Given the description of an element on the screen output the (x, y) to click on. 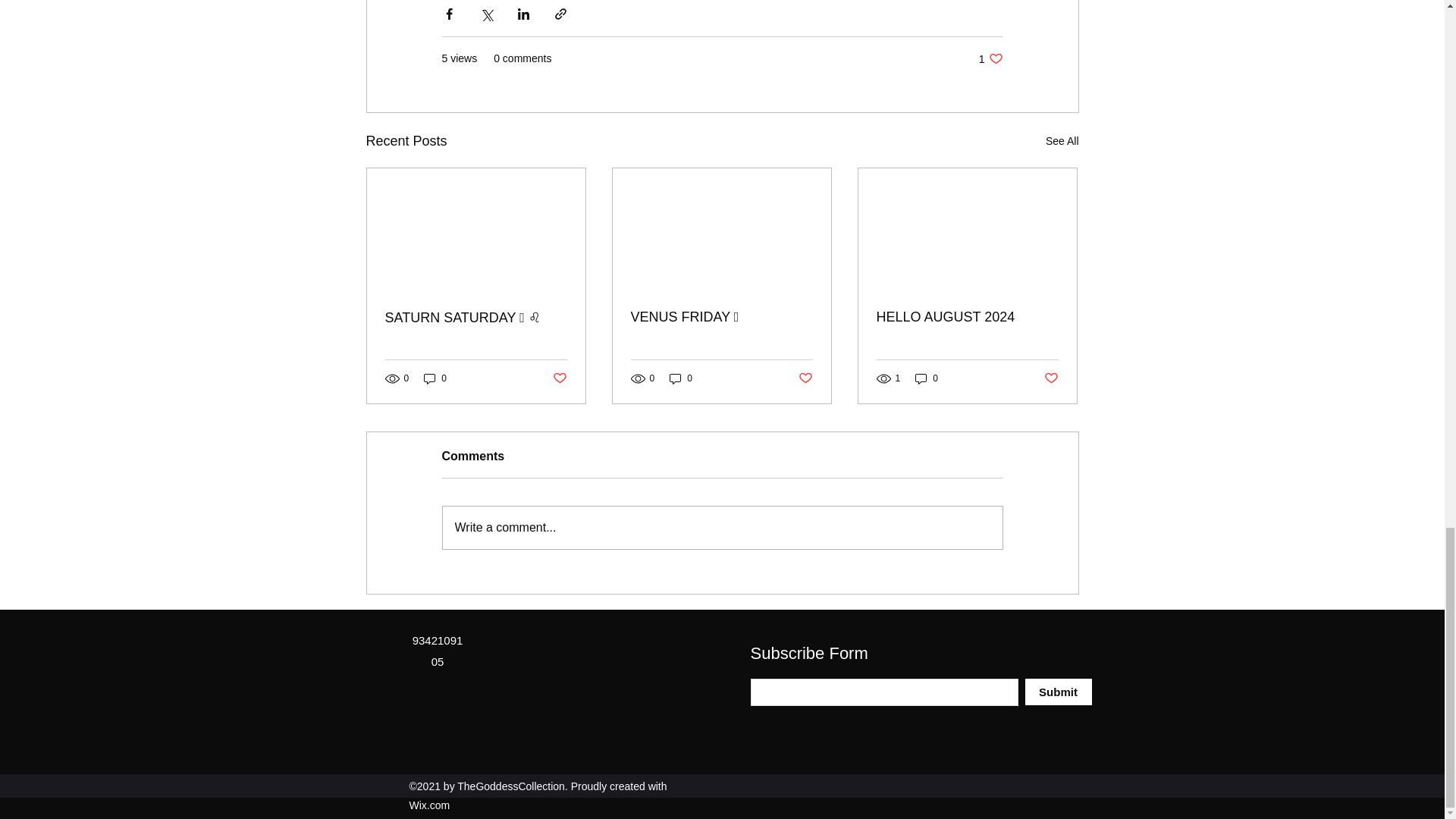
Post not marked as liked (804, 378)
0 (681, 378)
See All (1061, 141)
0 (435, 378)
Write a comment... (722, 527)
Post not marked as liked (1050, 378)
HELLO AUGUST 2024 (990, 58)
Submit (967, 317)
0 (1058, 691)
Post not marked as liked (926, 378)
